Given the description of an element on the screen output the (x, y) to click on. 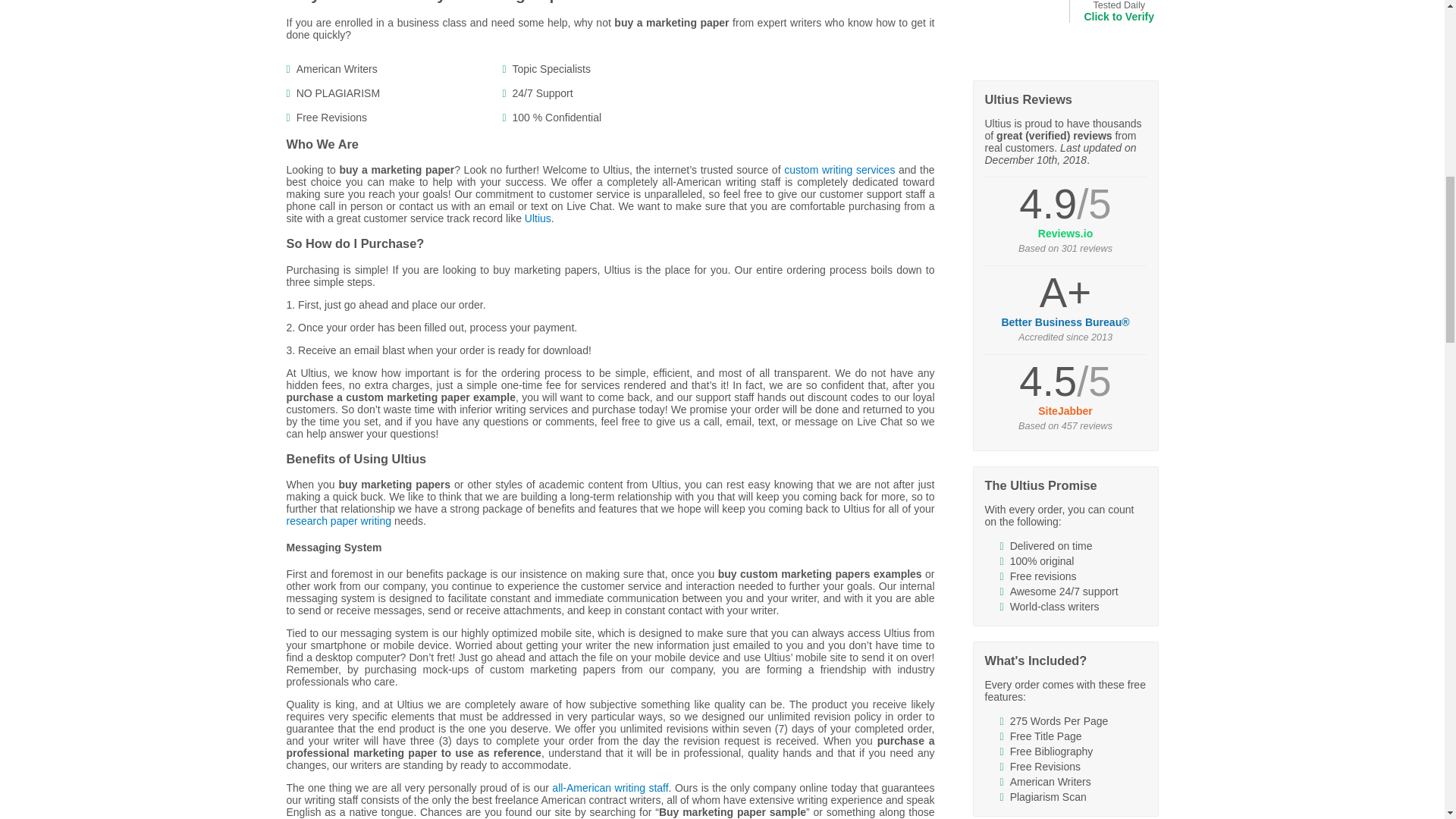
Custom Writing Services (839, 169)
McAfee Secured - Test Daily - Click to Verify (1013, 34)
Research Paper Writing Services (338, 521)
About Ultius (609, 787)
Writing and Editing Service (537, 218)
